Given the description of an element on the screen output the (x, y) to click on. 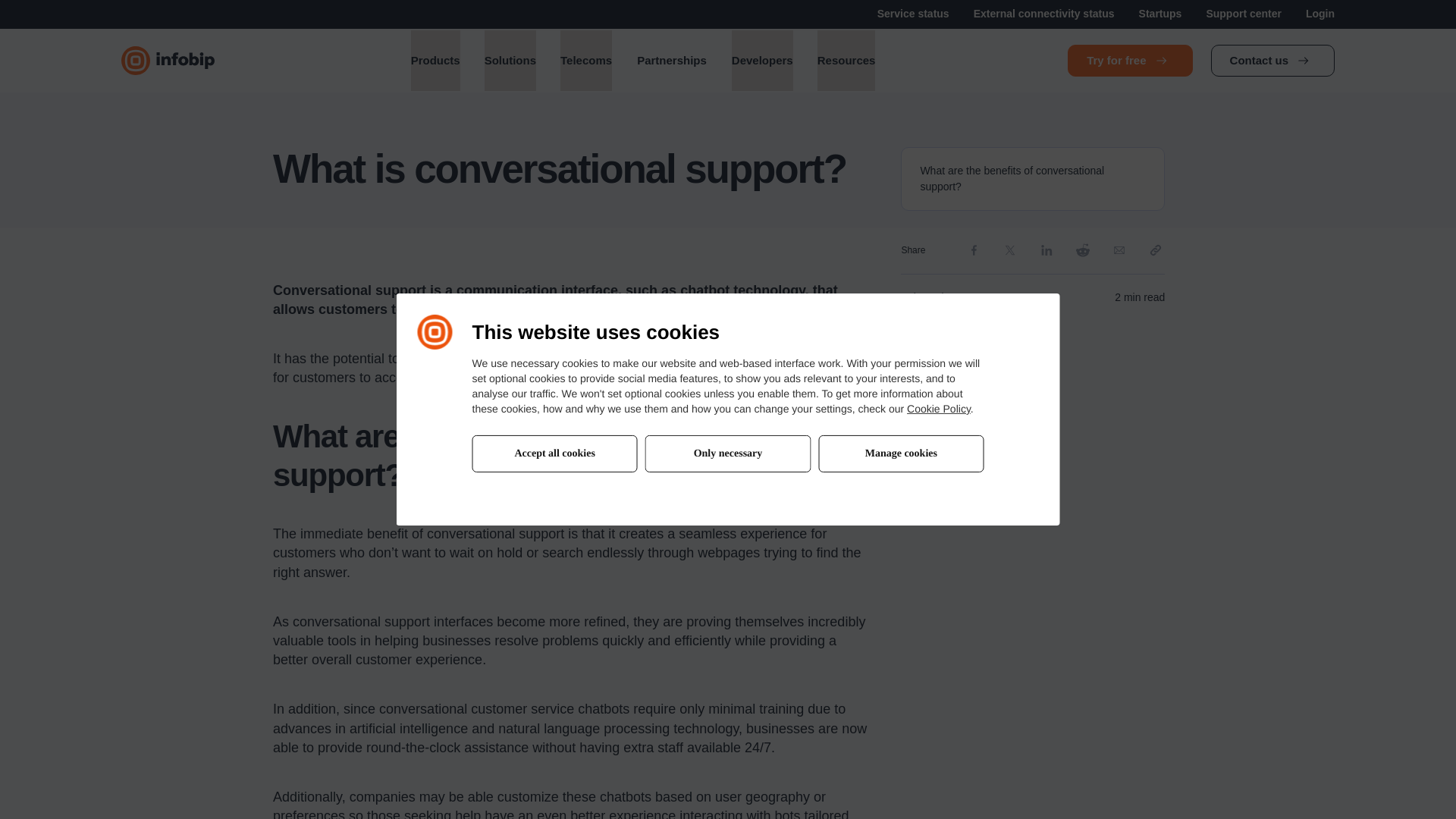
Accept all cookies (554, 453)
Only necessary (727, 453)
Manage cookies (901, 453)
Cookie Policy (939, 408)
